Given the description of an element on the screen output the (x, y) to click on. 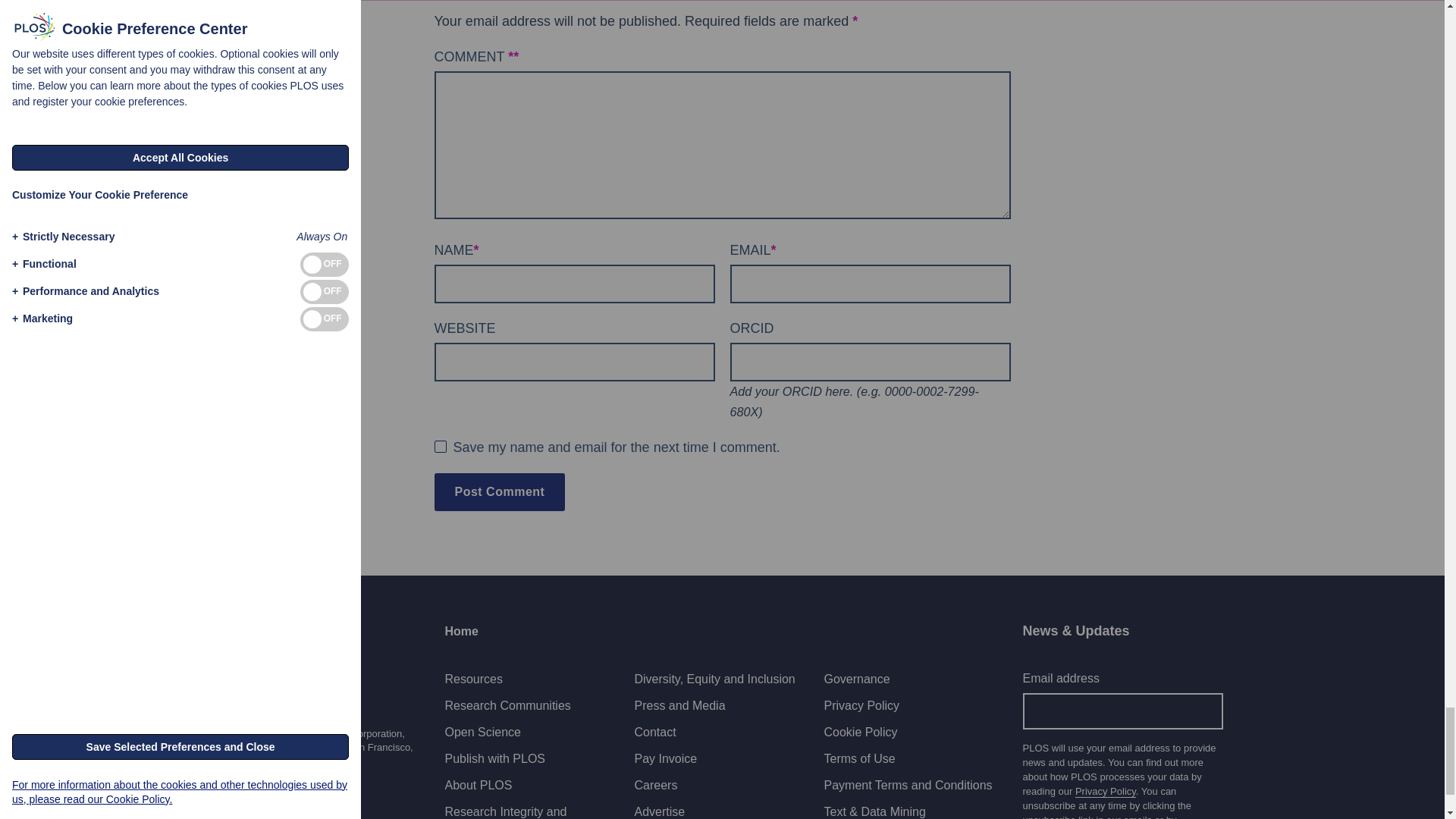
Post Comment (498, 492)
yes (439, 445)
